Given the description of an element on the screen output the (x, y) to click on. 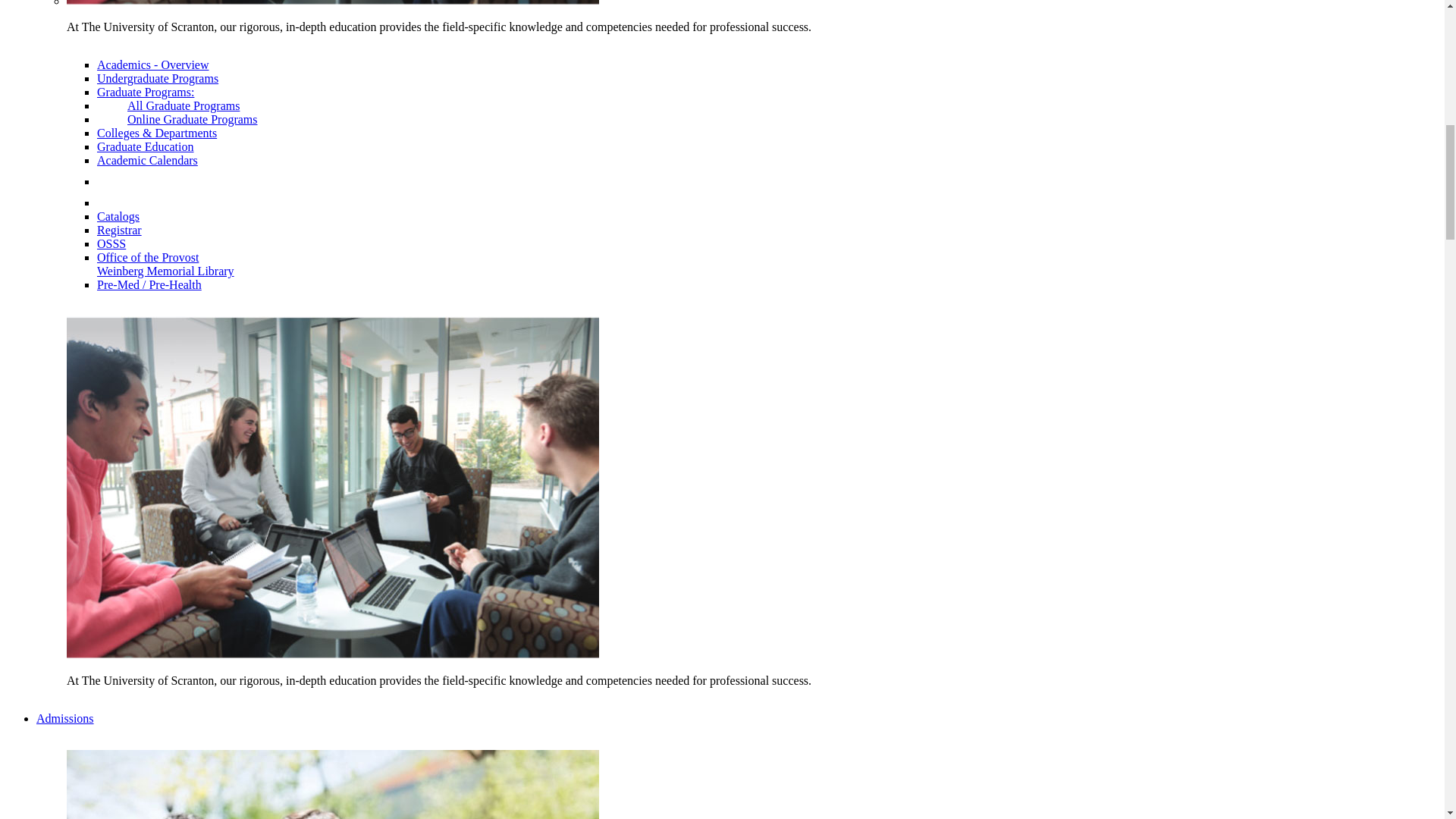
Online Graduate Programs (177, 119)
Undergraduate Programs (157, 78)
Academic Calendars (147, 160)
Registrar (119, 229)
Graduate Education (145, 146)
Academics - Overview (153, 64)
Graduate Programs: (145, 91)
Catalogs (118, 215)
All Graduate Programs (168, 105)
Weinberg Memorial Library (165, 270)
Office of the Provost (147, 256)
OSSS (111, 243)
